Given the description of an element on the screen output the (x, y) to click on. 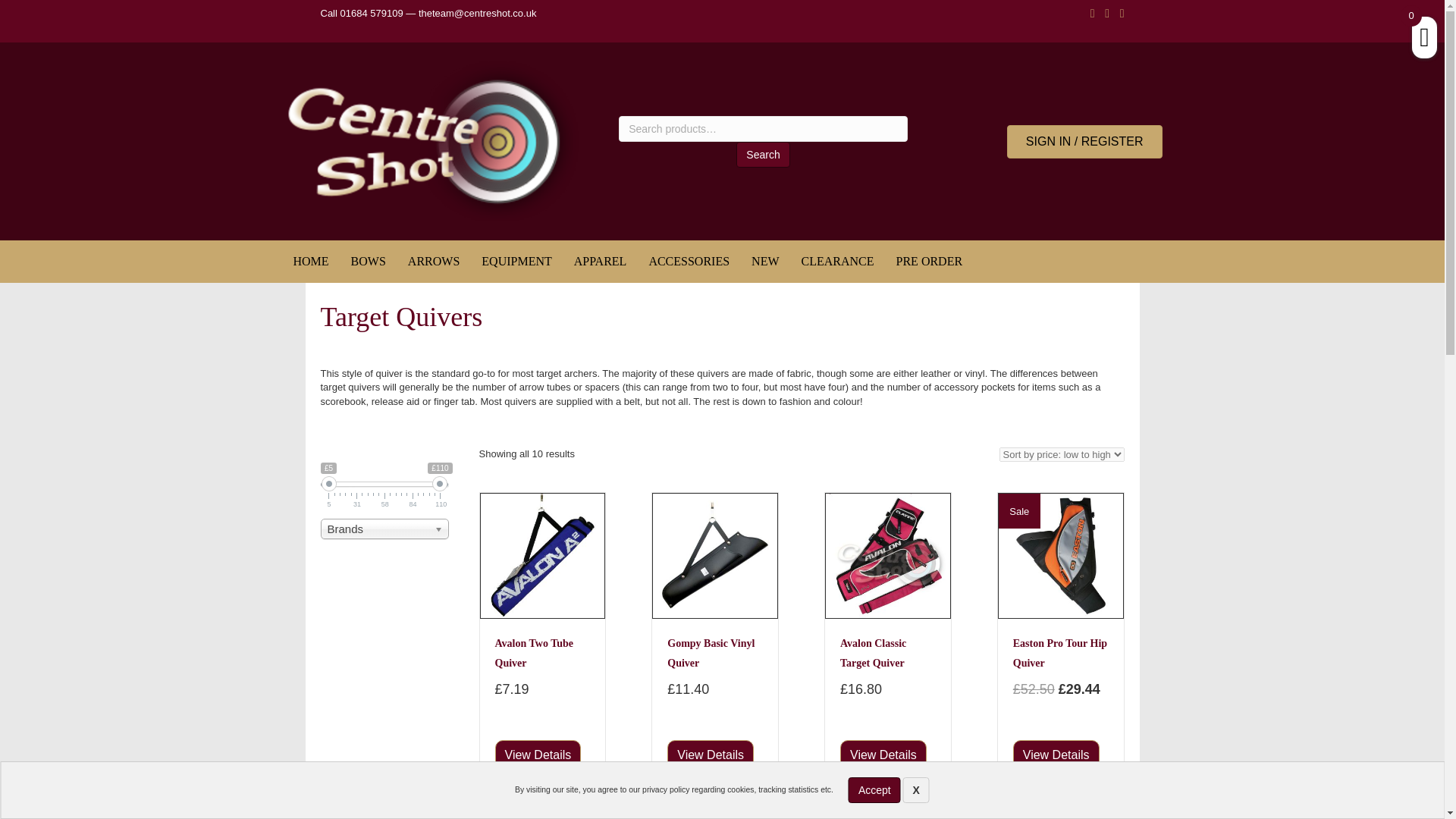
Easton Pro Tour Hip Quiver (1060, 555)
Avalon Two Tube Quiver (542, 554)
Easton Pro Tour Hip Quiver (1056, 755)
Gompy Basic Vinyl Quiver (710, 653)
Avalon Two Tube Quiver (534, 653)
ARROWS (433, 261)
Avalon Classic Target Quiver (883, 755)
Search (762, 154)
Avalon Classic Target Quiver (887, 554)
Avalon Two Tube Quiver (537, 755)
